Given the description of an element on the screen output the (x, y) to click on. 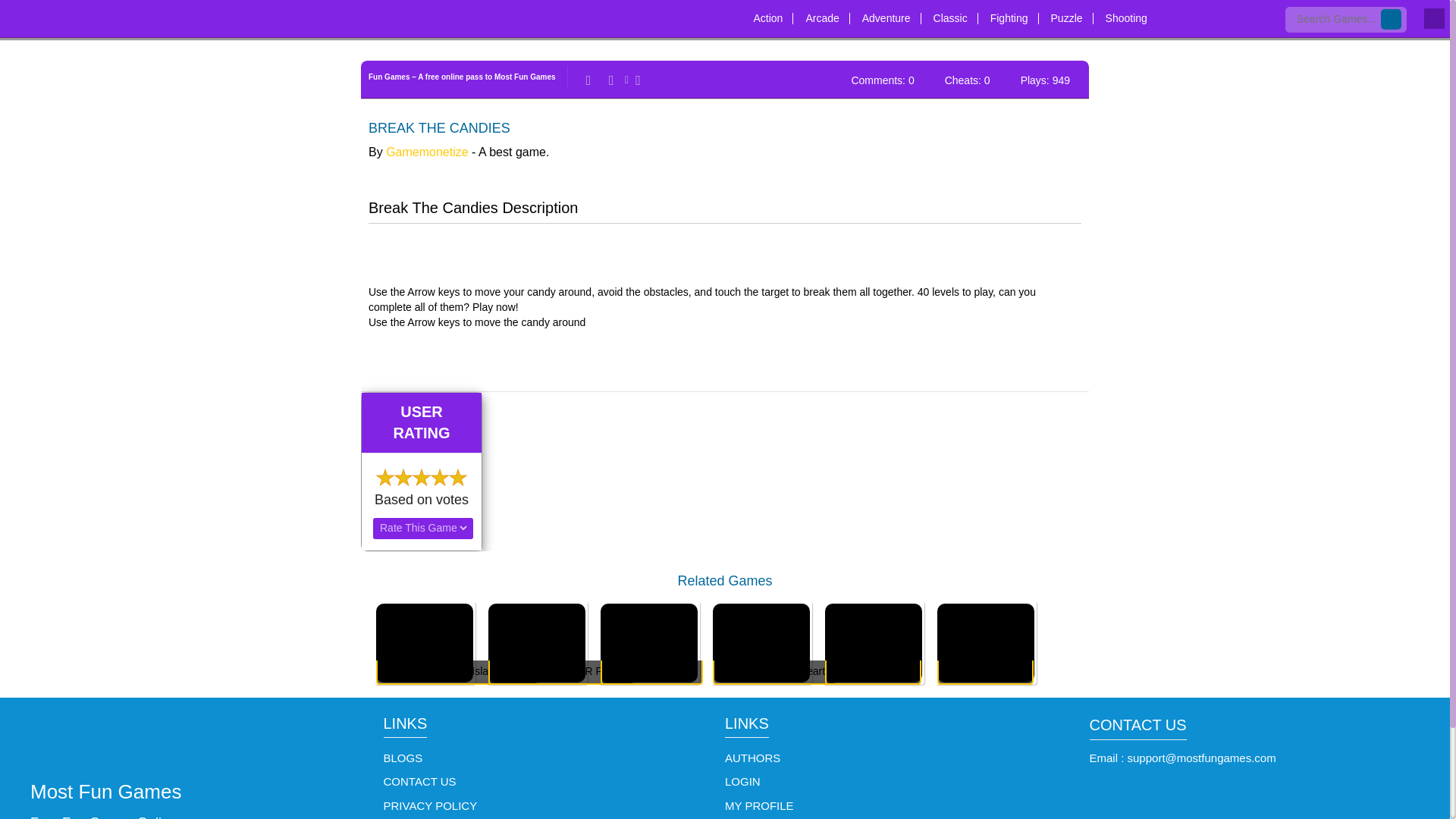
Volkswagen T-Roc R Puzzle (536, 634)
Play in fullscreen (635, 79)
Arcade (821, 13)
Action (767, 13)
Airplane Simulator Island Travel (424, 634)
Adventure (885, 13)
